Given the description of an element on the screen output the (x, y) to click on. 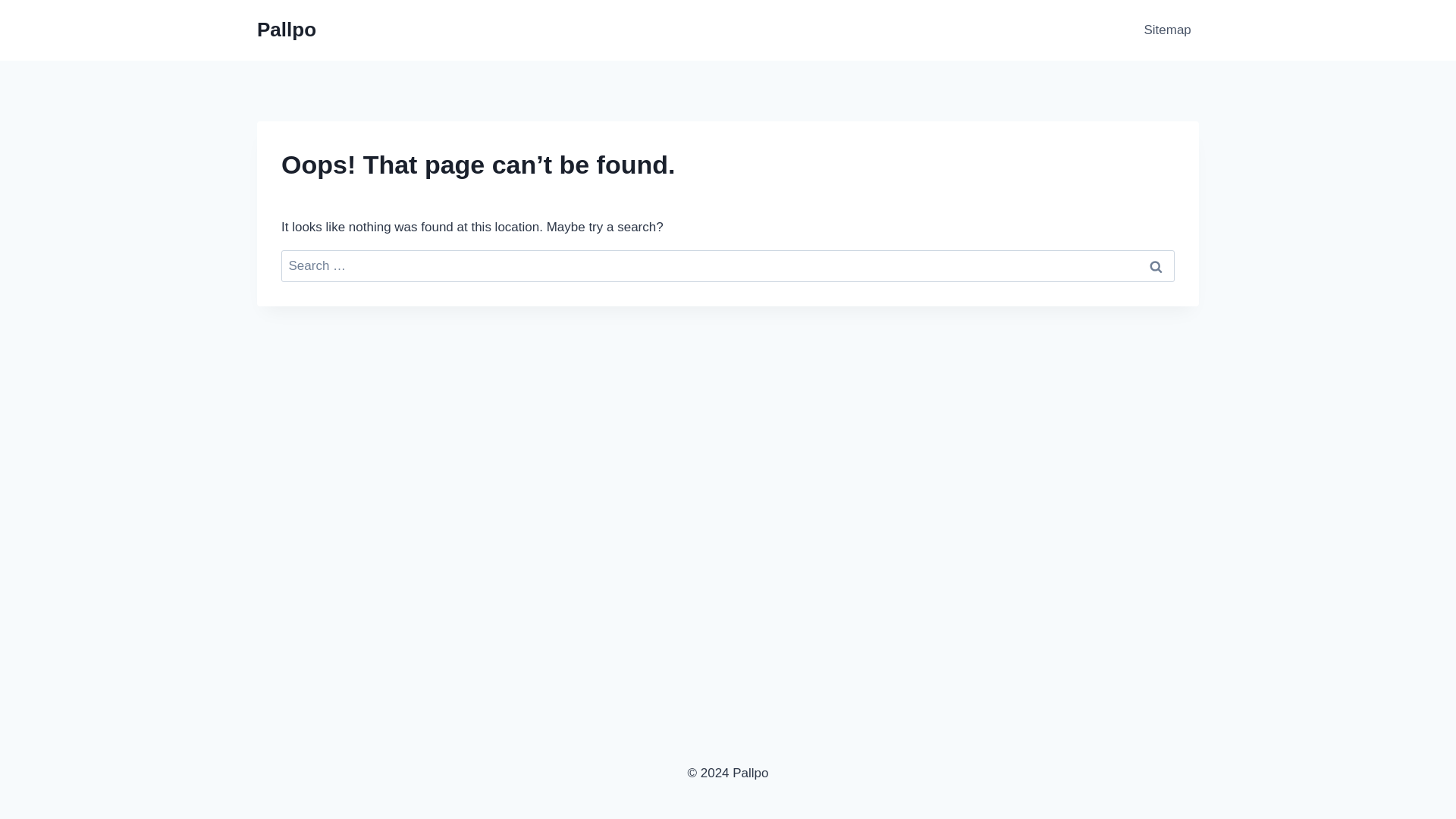
Pallpo (286, 29)
Search (1155, 266)
Search (1155, 266)
Search (1155, 266)
Sitemap (1166, 30)
Sitemap (1166, 30)
Pallpo (286, 29)
